Given the description of an element on the screen output the (x, y) to click on. 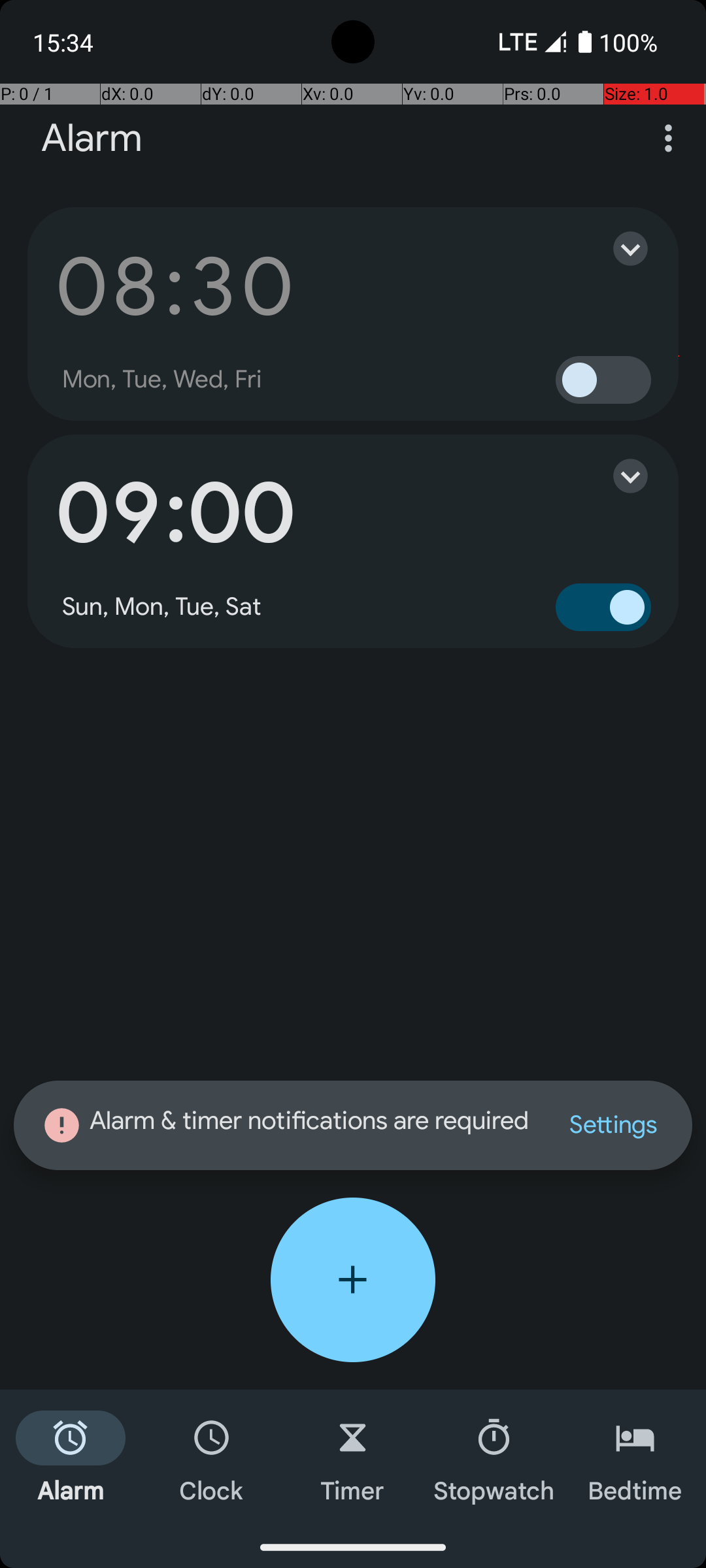
Mon, Tue, Wed, Fri Element type: android.widget.TextView (161, 379)
Sun, Mon, Tue, Sat Element type: android.widget.TextView (161, 606)
Alarm & timer notifications are required Element type: android.widget.TextView (287, 1125)
